Given the description of an element on the screen output the (x, y) to click on. 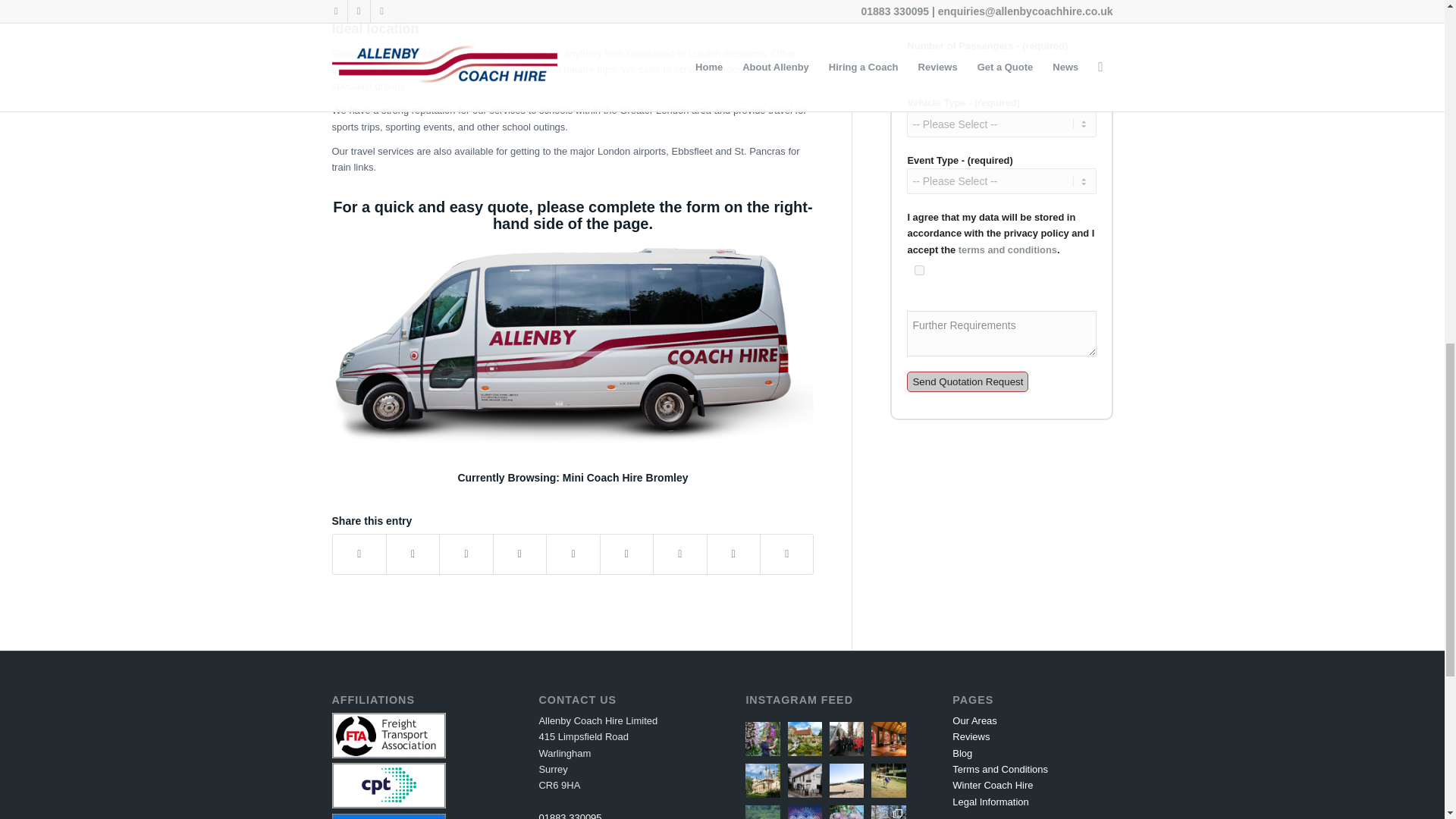
on (919, 270)
Send Quotation Request (967, 381)
terms and conditions (1007, 249)
Send Quotation Request (967, 381)
